Given the description of an element on the screen output the (x, y) to click on. 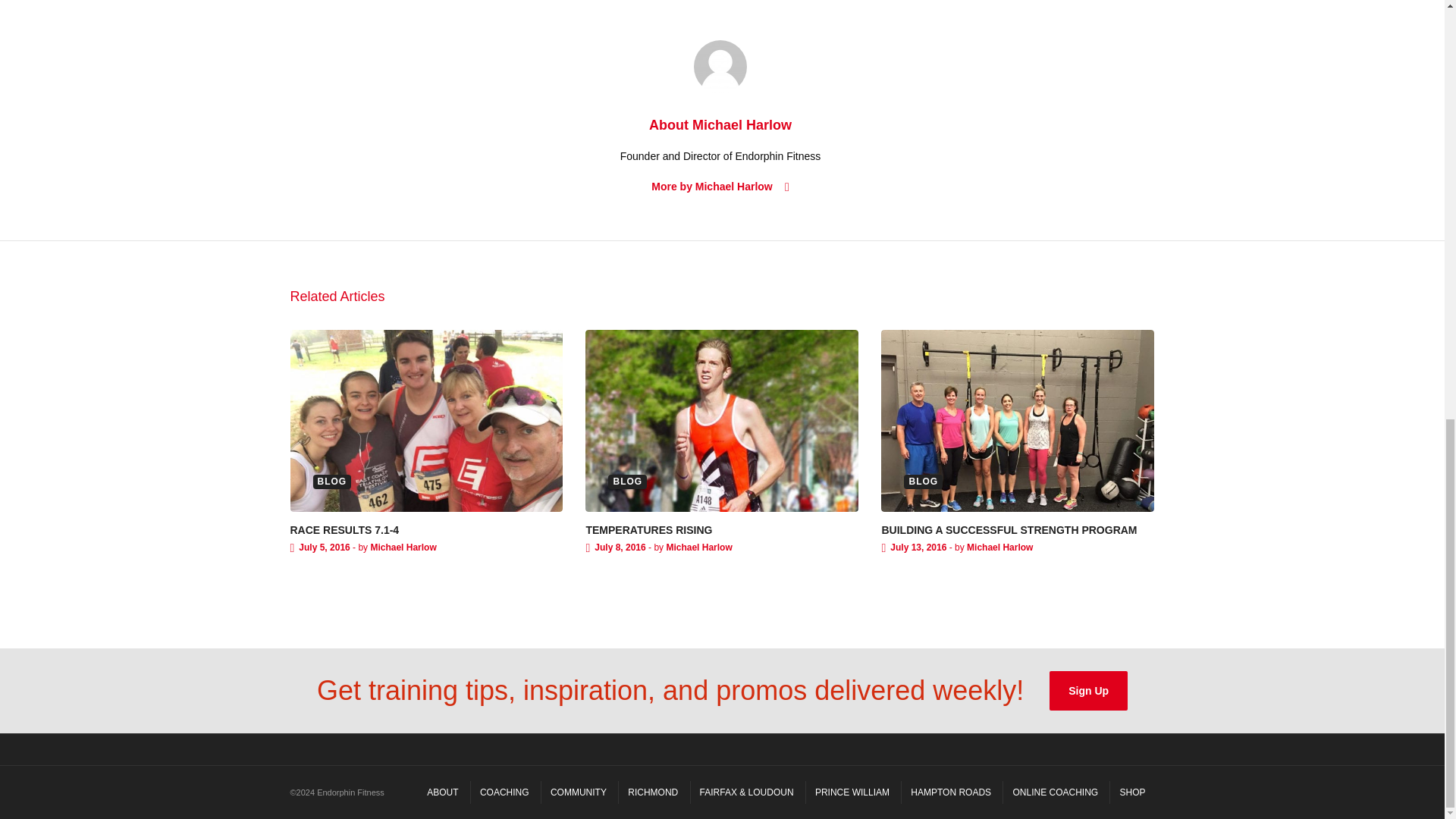
More by Michael Harlow (719, 186)
